Given the description of an element on the screen output the (x, y) to click on. 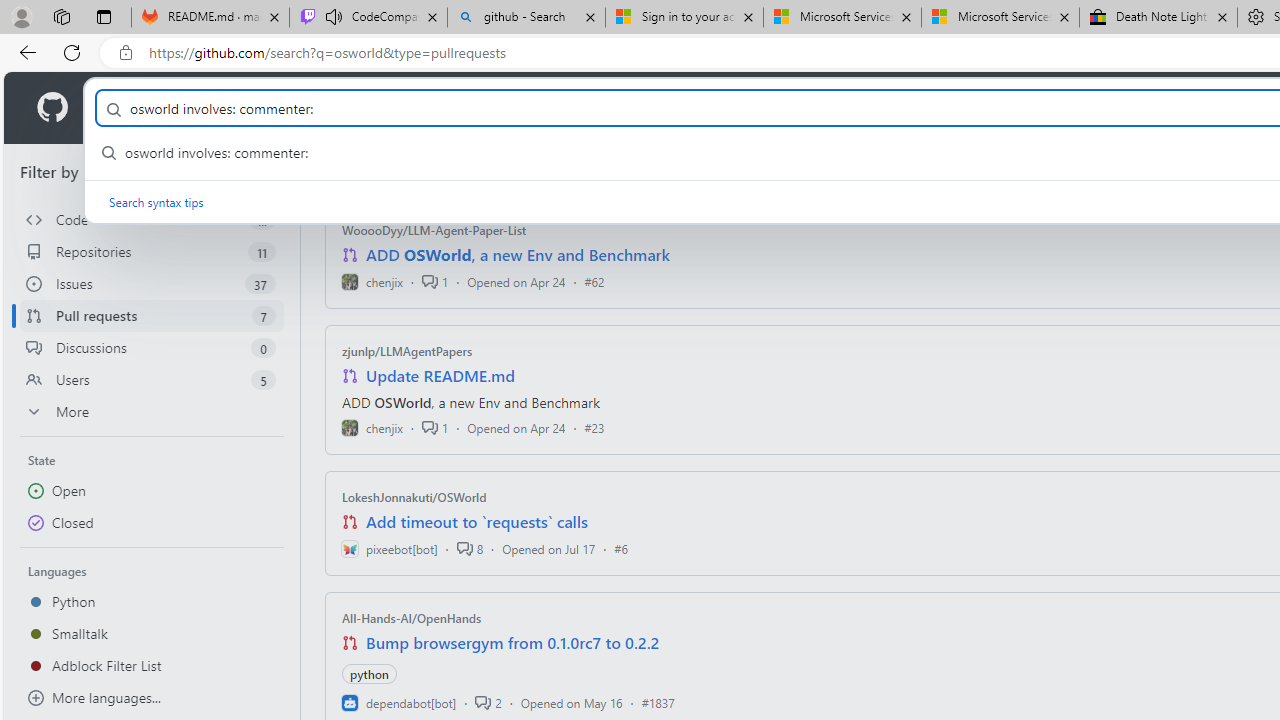
pixeebot[bot] (389, 548)
#62 (594, 281)
